Given the description of an element on the screen output the (x, y) to click on. 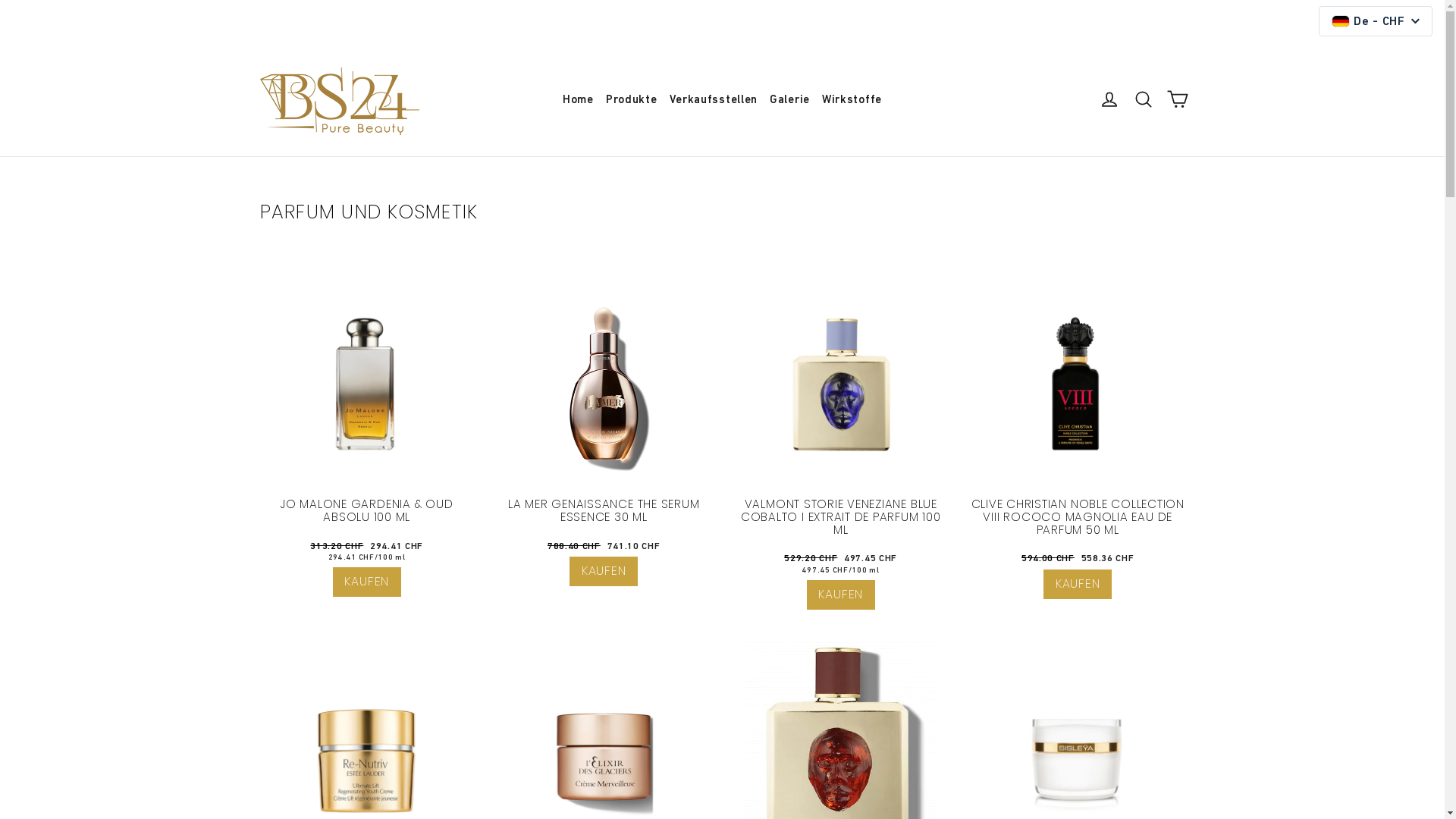
Suche Element type: text (1143, 99)
Verkaufsstellen Element type: text (712, 99)
Einkaufswagen Element type: text (1176, 99)
Home Element type: text (577, 99)
Einloggen Element type: text (1109, 99)
KAUFEN Element type: text (603, 571)
KAUFEN Element type: text (1077, 584)
De
 - 
CHF Element type: text (1375, 21)
KAUFEN Element type: text (840, 594)
KAUFEN Element type: text (366, 581)
Produkte Element type: text (631, 99)
Wirkstoffe Element type: text (851, 99)
Galerie Element type: text (789, 99)
